Given the description of an element on the screen output the (x, y) to click on. 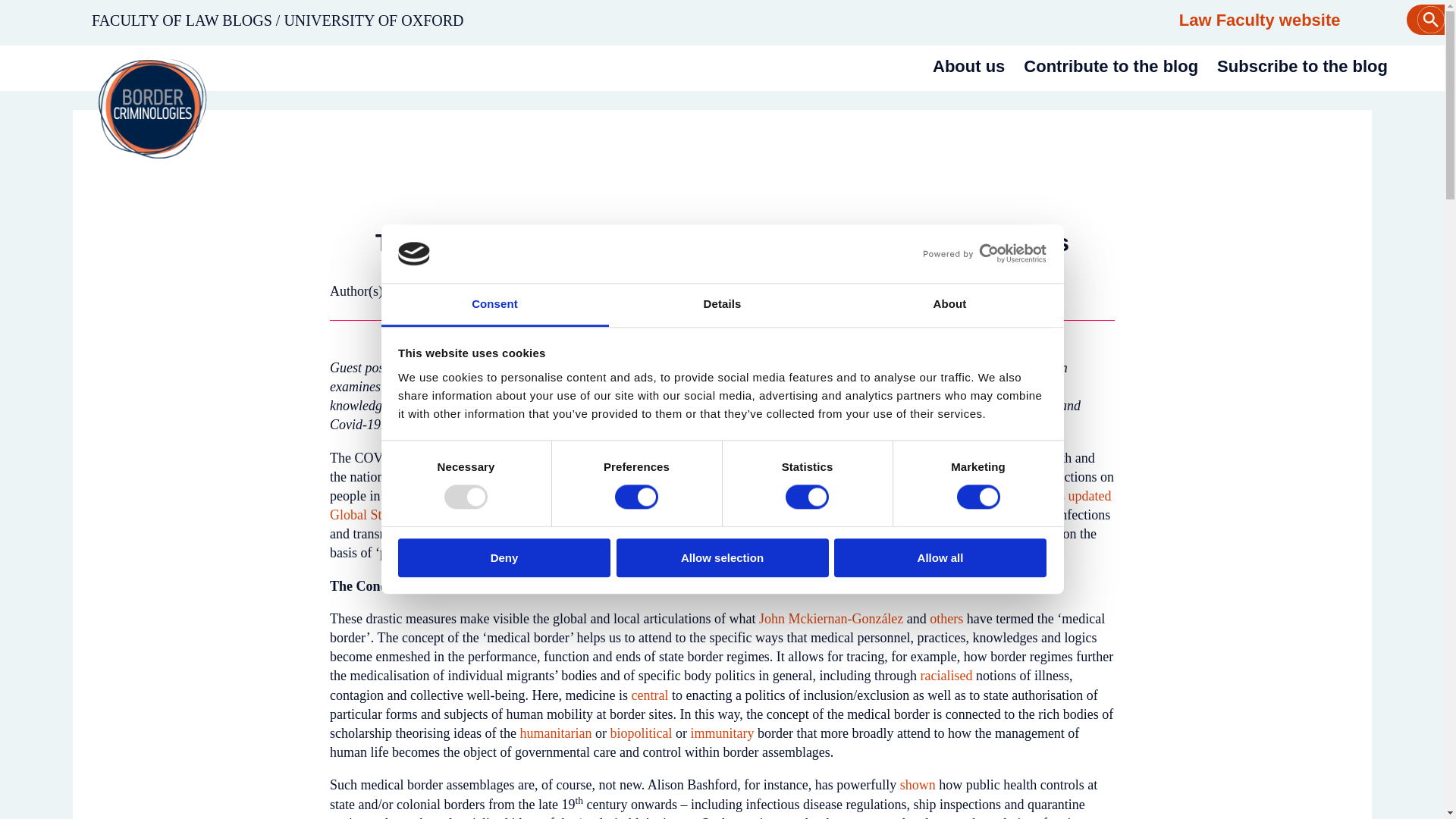
Allow selection (721, 557)
About (948, 304)
Details (721, 304)
Consent (494, 304)
Deny (503, 557)
Allow all (940, 557)
